Given the description of an element on the screen output the (x, y) to click on. 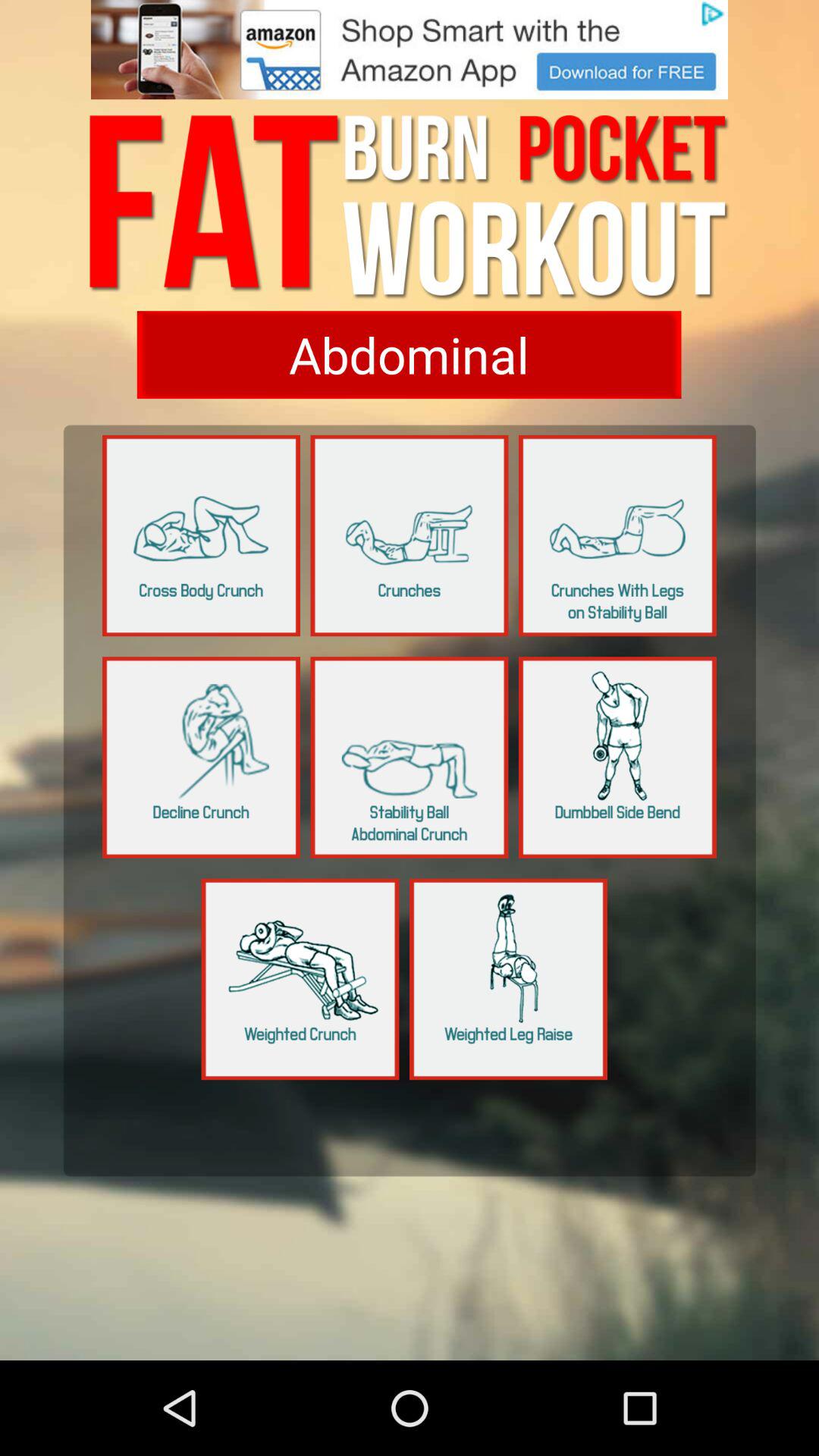
to open that page (201, 757)
